Given the description of an element on the screen output the (x, y) to click on. 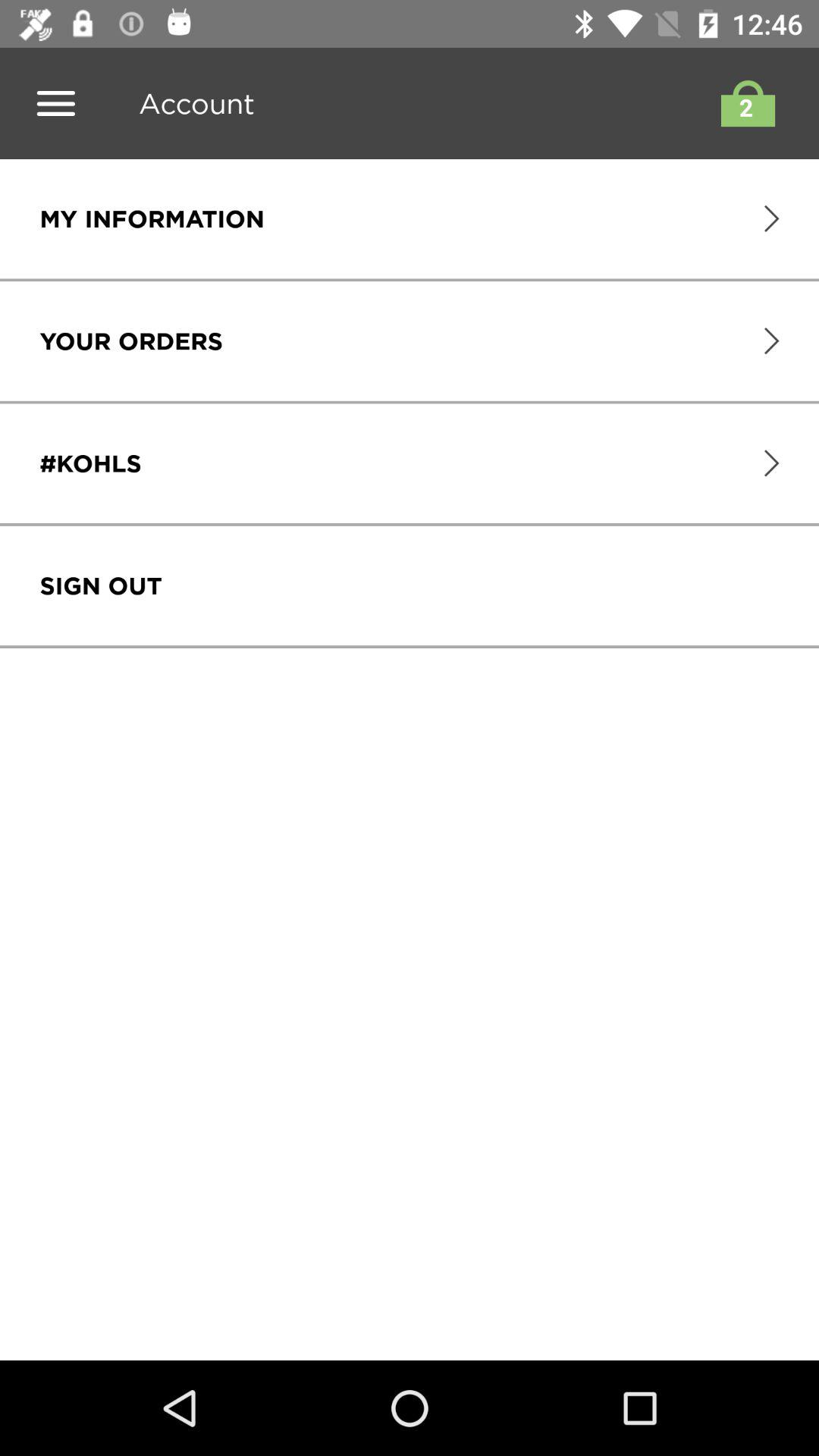
launch the icon below #kohls icon (100, 585)
